Given the description of an element on the screen output the (x, y) to click on. 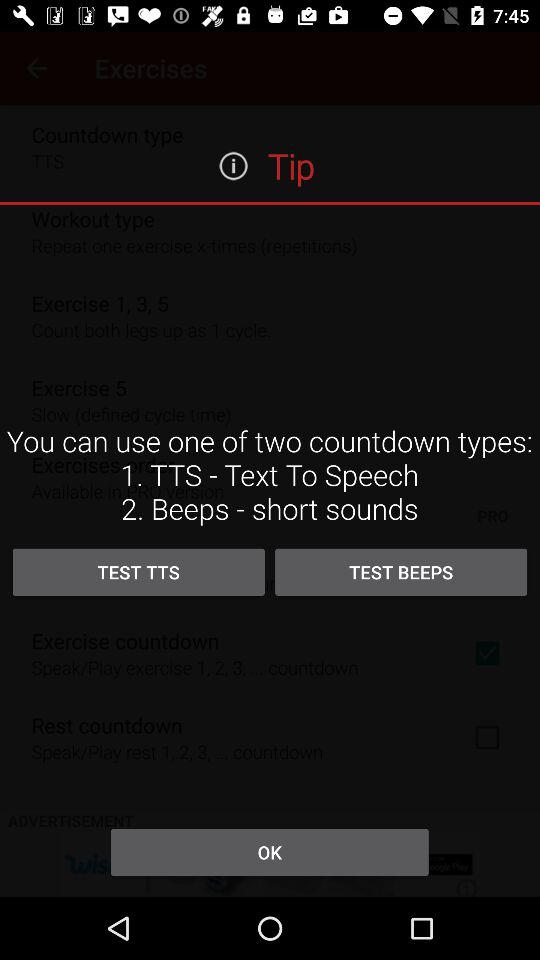
open item below you can use icon (138, 571)
